Given the description of an element on the screen output the (x, y) to click on. 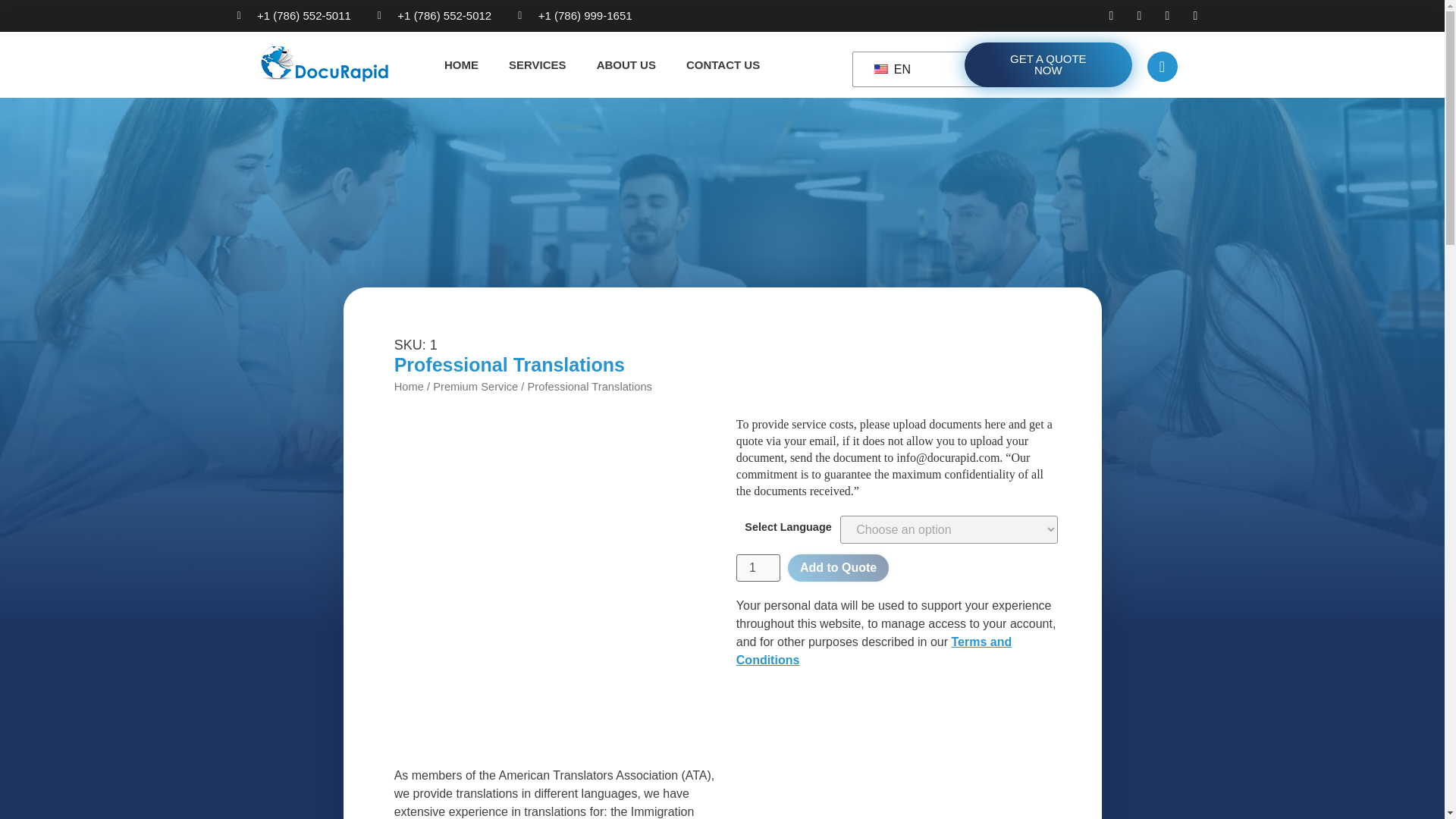
1 (758, 567)
HOME (461, 63)
English (881, 67)
SERVICES (536, 63)
English (963, 68)
